Given the description of an element on the screen output the (x, y) to click on. 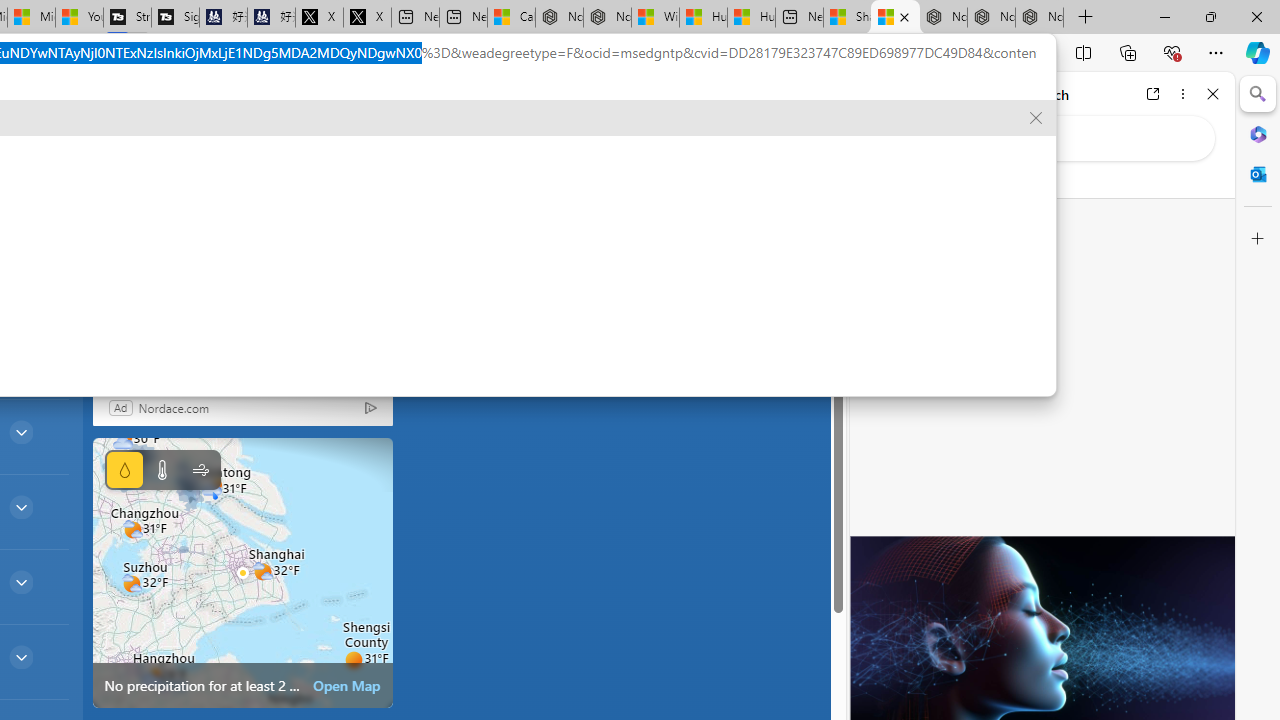
No precipitation for at least 2 hours (242, 572)
Open settings (786, 105)
static map image of vector map (242, 572)
Class: miniMapRadarSVGView-DS-EntryPoint1-1 (242, 572)
Open Map (347, 685)
X (367, 17)
Personalize (488, 162)
Outlook (1258, 174)
